Given the description of an element on the screen output the (x, y) to click on. 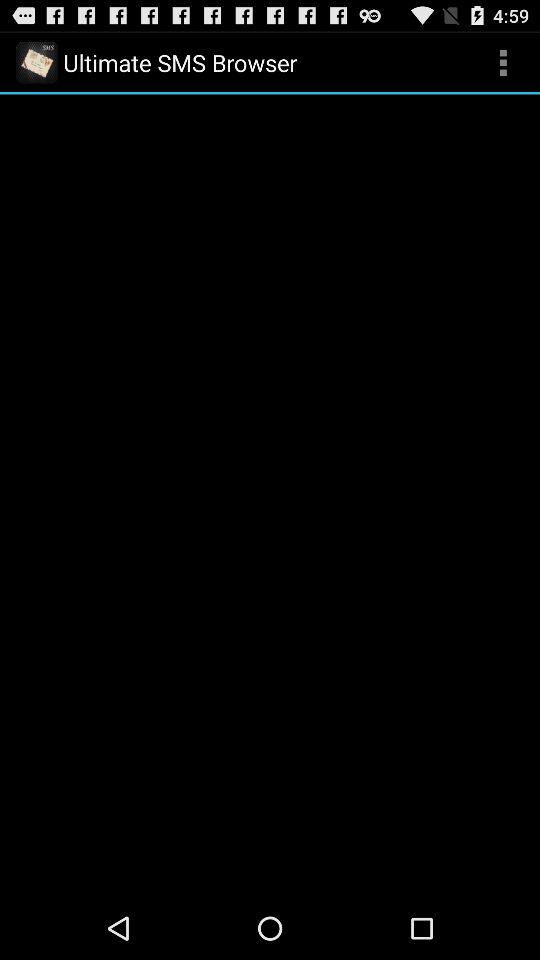
tap app to the right of ultimate sms browser icon (503, 62)
